Given the description of an element on the screen output the (x, y) to click on. 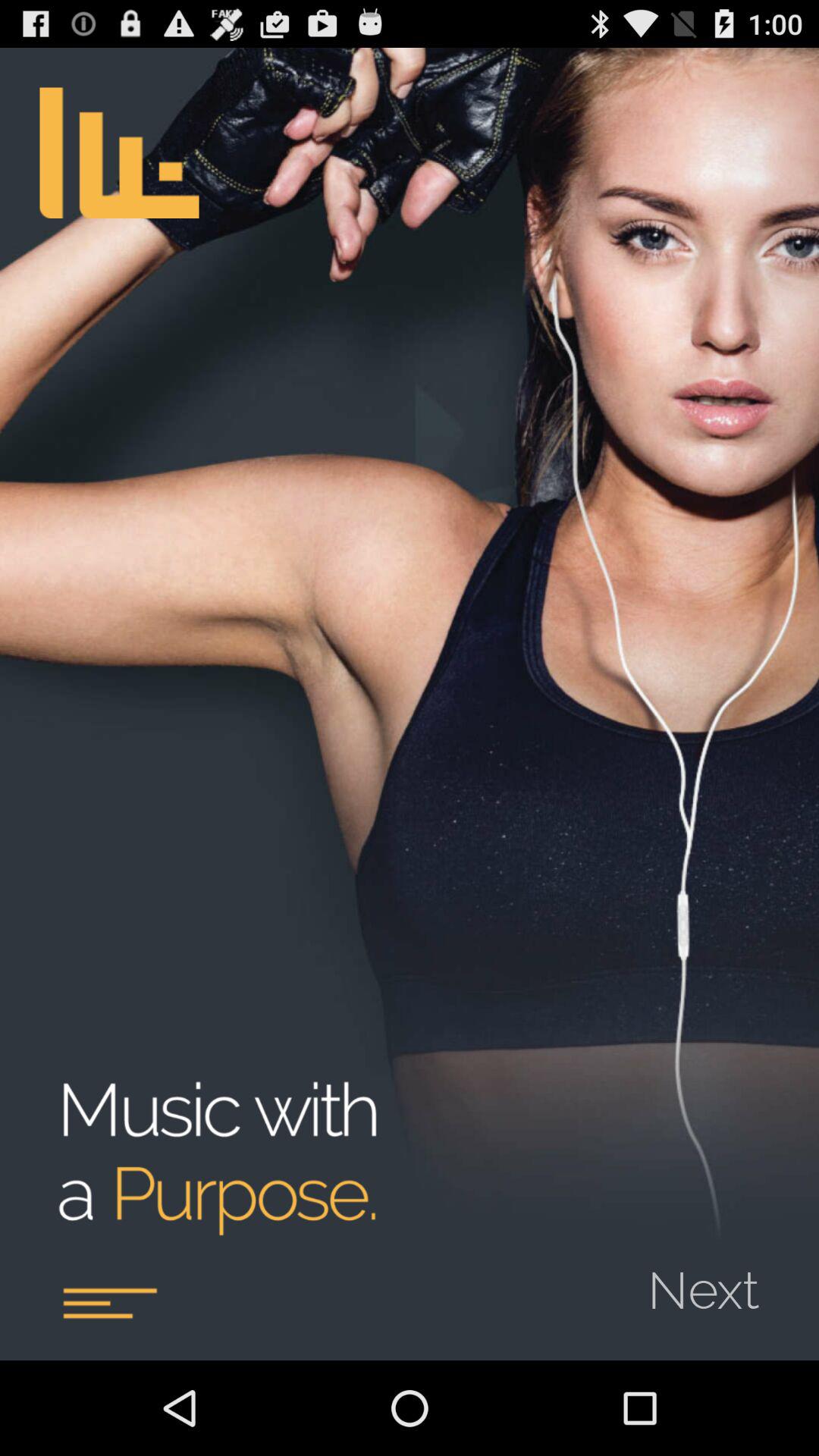
open details or context (109, 1302)
